Given the description of an element on the screen output the (x, y) to click on. 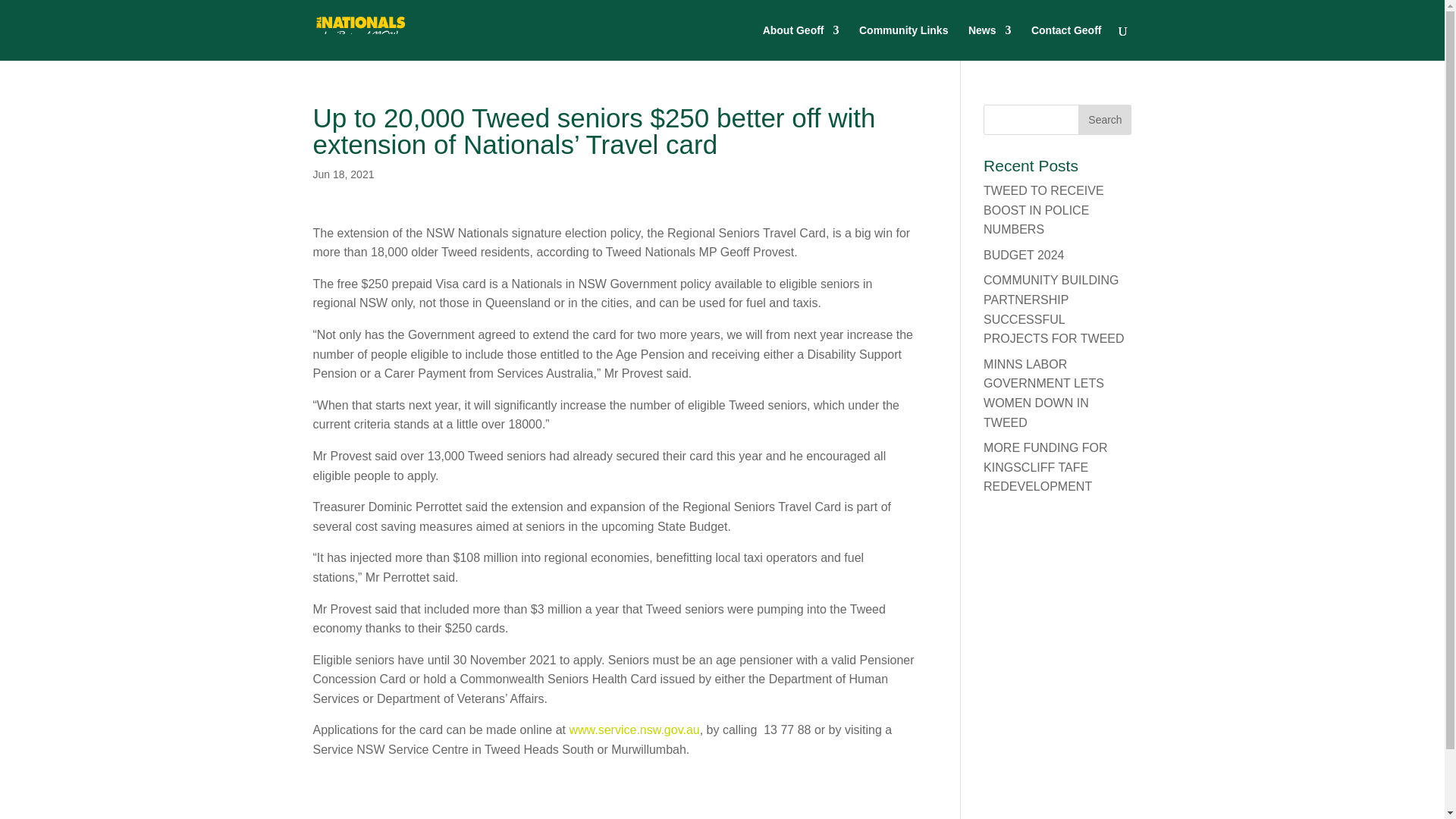
Contact Geoff (1066, 42)
Search (1104, 119)
MORE FUNDING FOR KINGSCLIFF TAFE REDEVELOPMENT (1046, 467)
BUDGET 2024 (1024, 254)
MINNS LABOR GOVERNMENT LETS WOMEN DOWN IN TWEED (1043, 393)
Search (1104, 119)
Community Links (903, 42)
About Geoff (801, 42)
COMMUNITY BUILDING PARTNERSHIP SUCCESSFUL PROJECTS FOR TWEED (1054, 308)
News (989, 42)
